Given the description of an element on the screen output the (x, y) to click on. 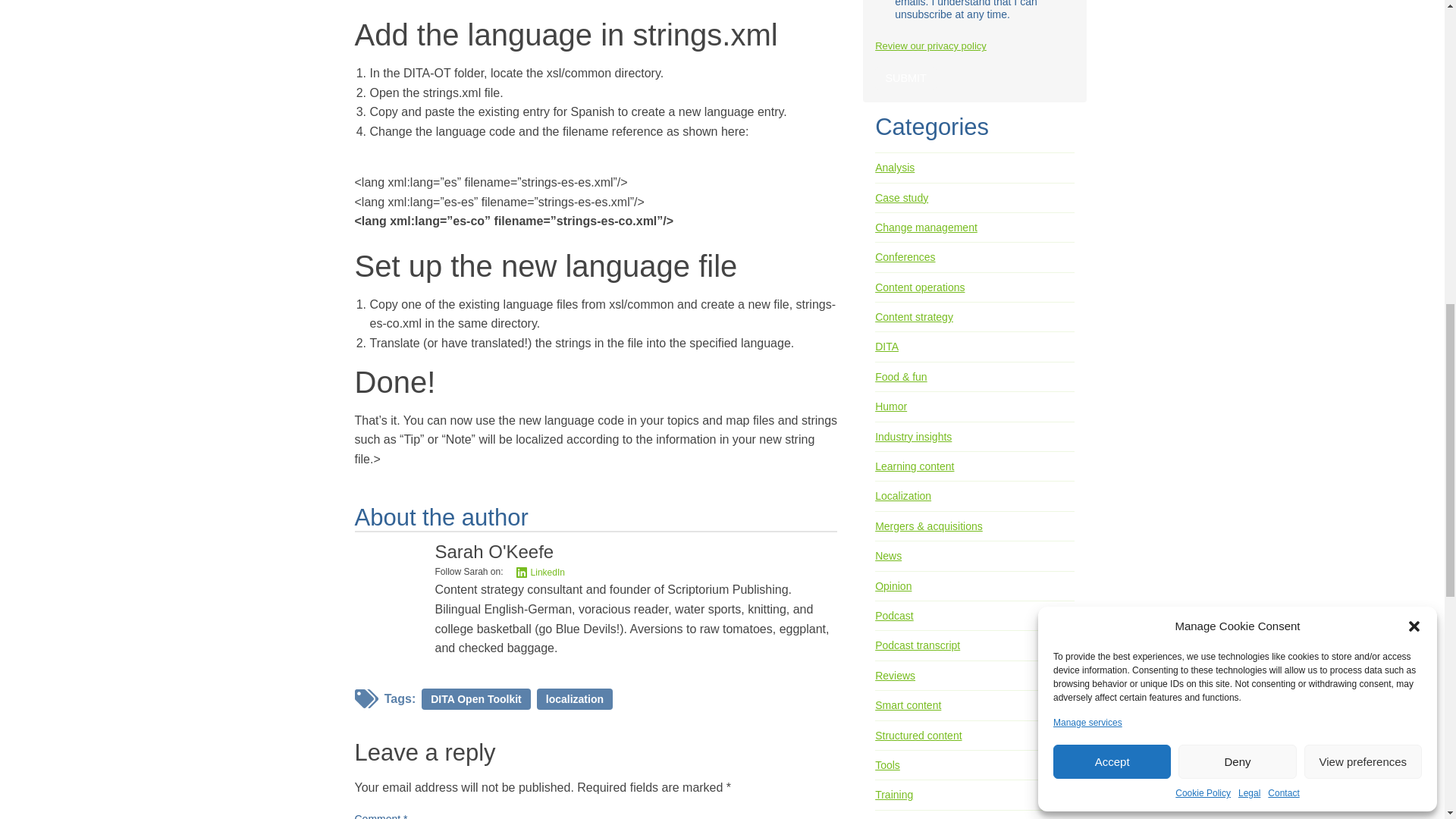
Submit (905, 78)
